Given the description of an element on the screen output the (x, y) to click on. 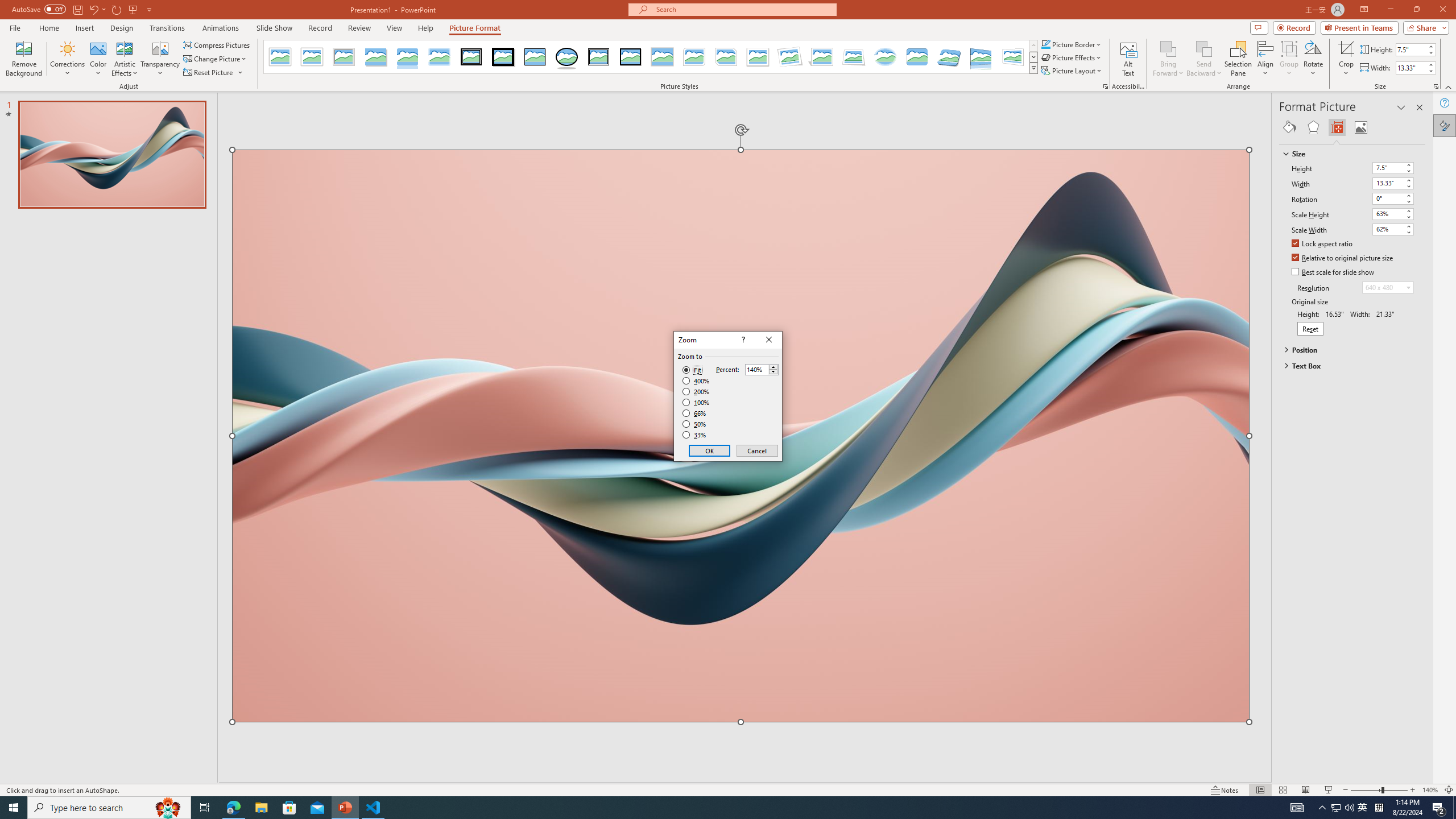
Corrections (67, 58)
Picture (1361, 126)
Soft Edge Rectangle (439, 56)
Shape Width (1410, 67)
Bring Forward (1168, 58)
Compound Frame, Black (598, 56)
Metal Frame (343, 56)
Send Backward (1204, 48)
Reflected Perspective Right (981, 56)
